Given the description of an element on the screen output the (x, y) to click on. 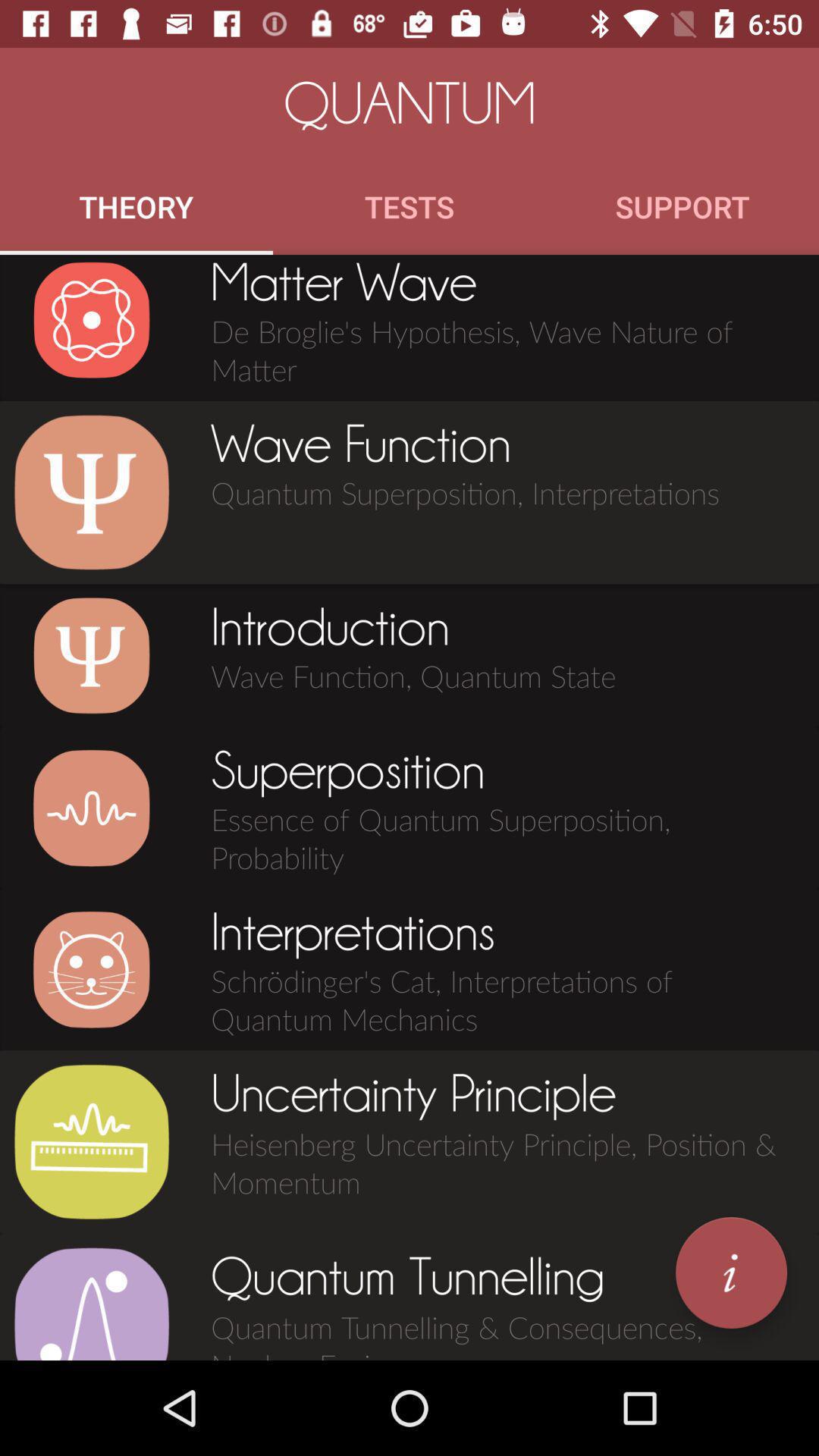
click to view about heisenberg uncertainty principle position momentum (91, 1141)
